Given the description of an element on the screen output the (x, y) to click on. 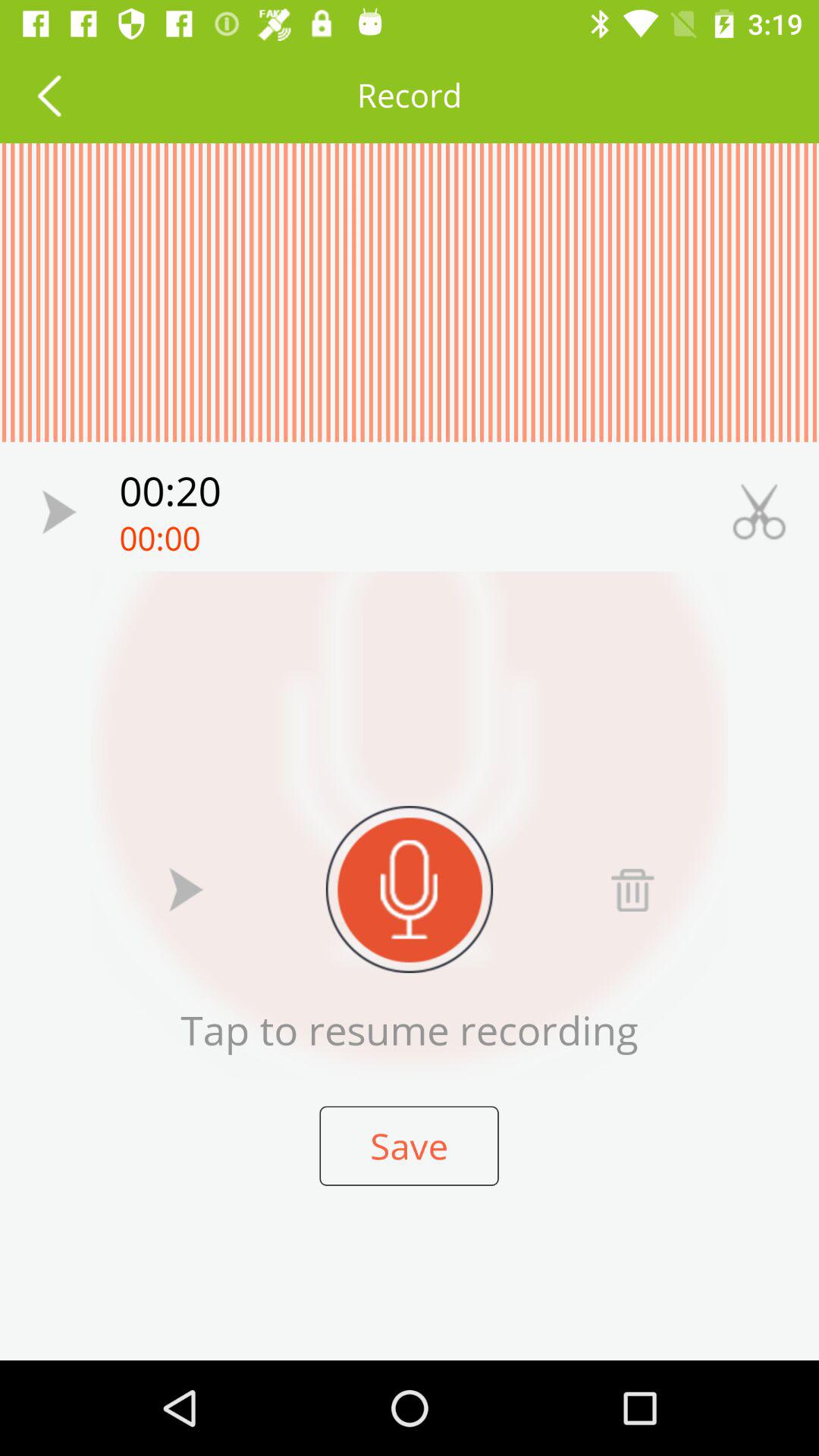
press the microphone button in the center of the screen to resume the podcast (409, 889)
